Given the description of an element on the screen output the (x, y) to click on. 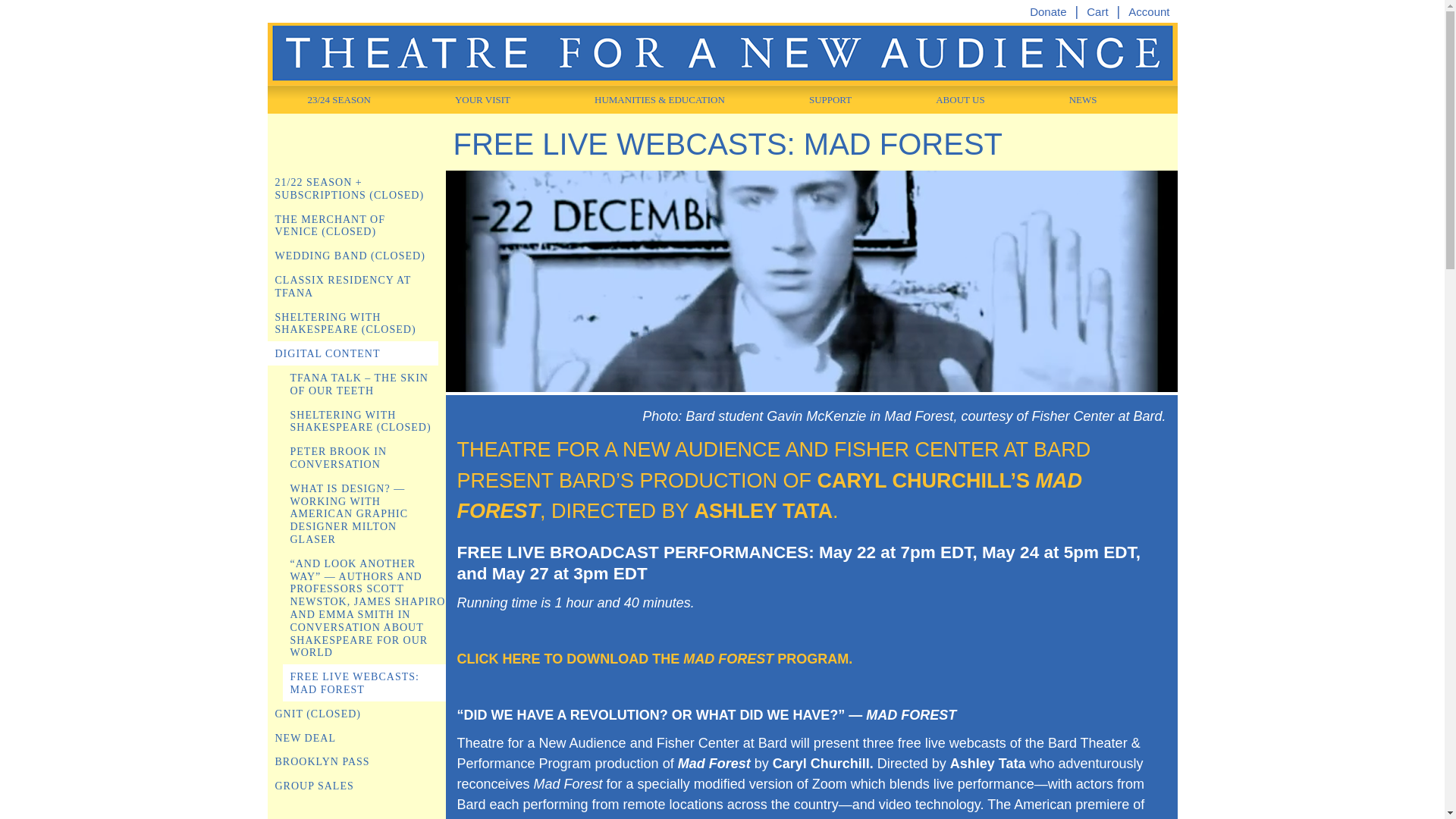
Account (1148, 11)
Cart (1097, 11)
SUPPORT (820, 96)
YOUR VISIT (472, 96)
Donate (1047, 11)
